Given the description of an element on the screen output the (x, y) to click on. 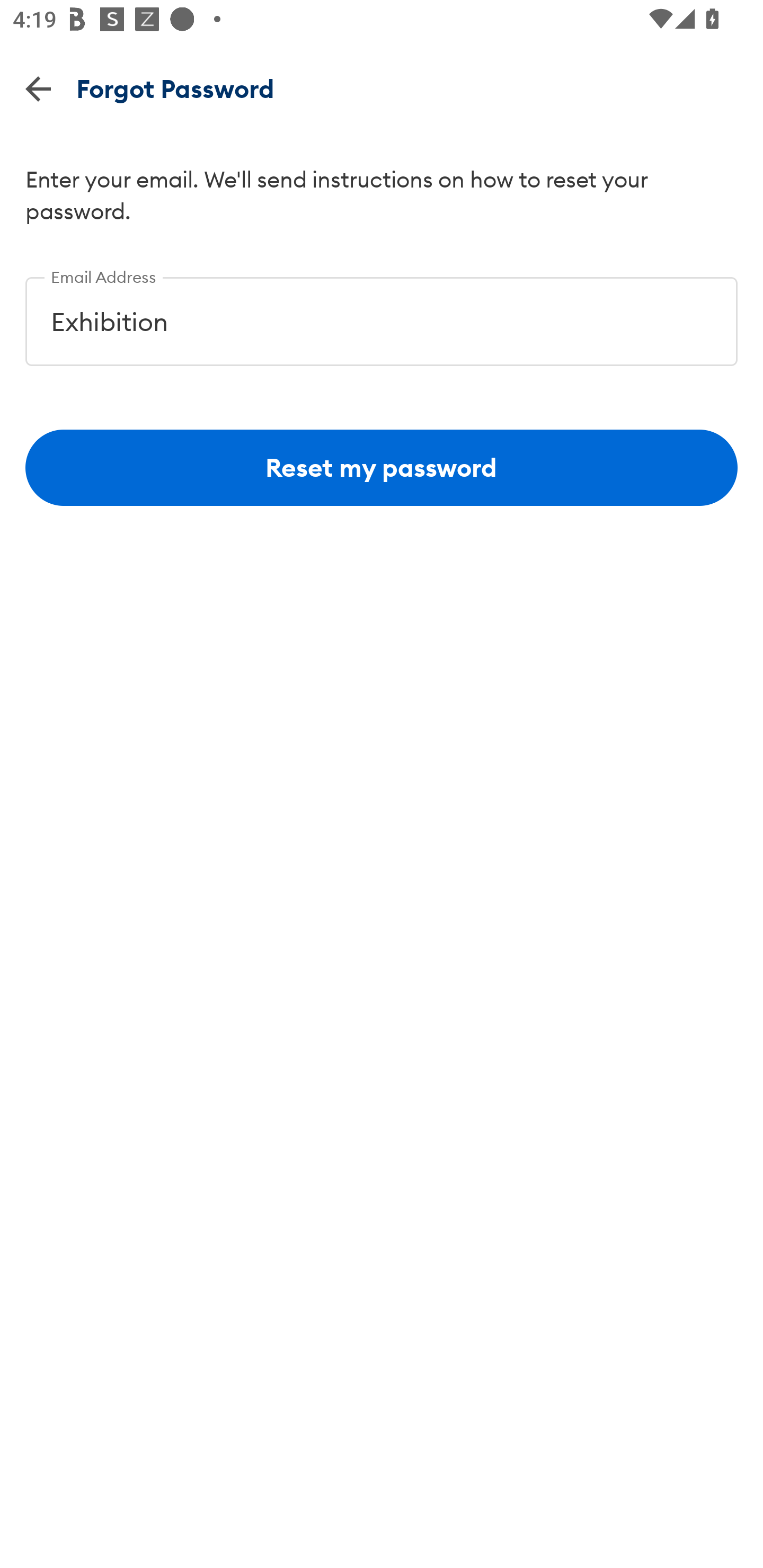
Back (38, 88)
Exhibition Email Address (381, 314)
Reset my password (381, 467)
